Given the description of an element on the screen output the (x, y) to click on. 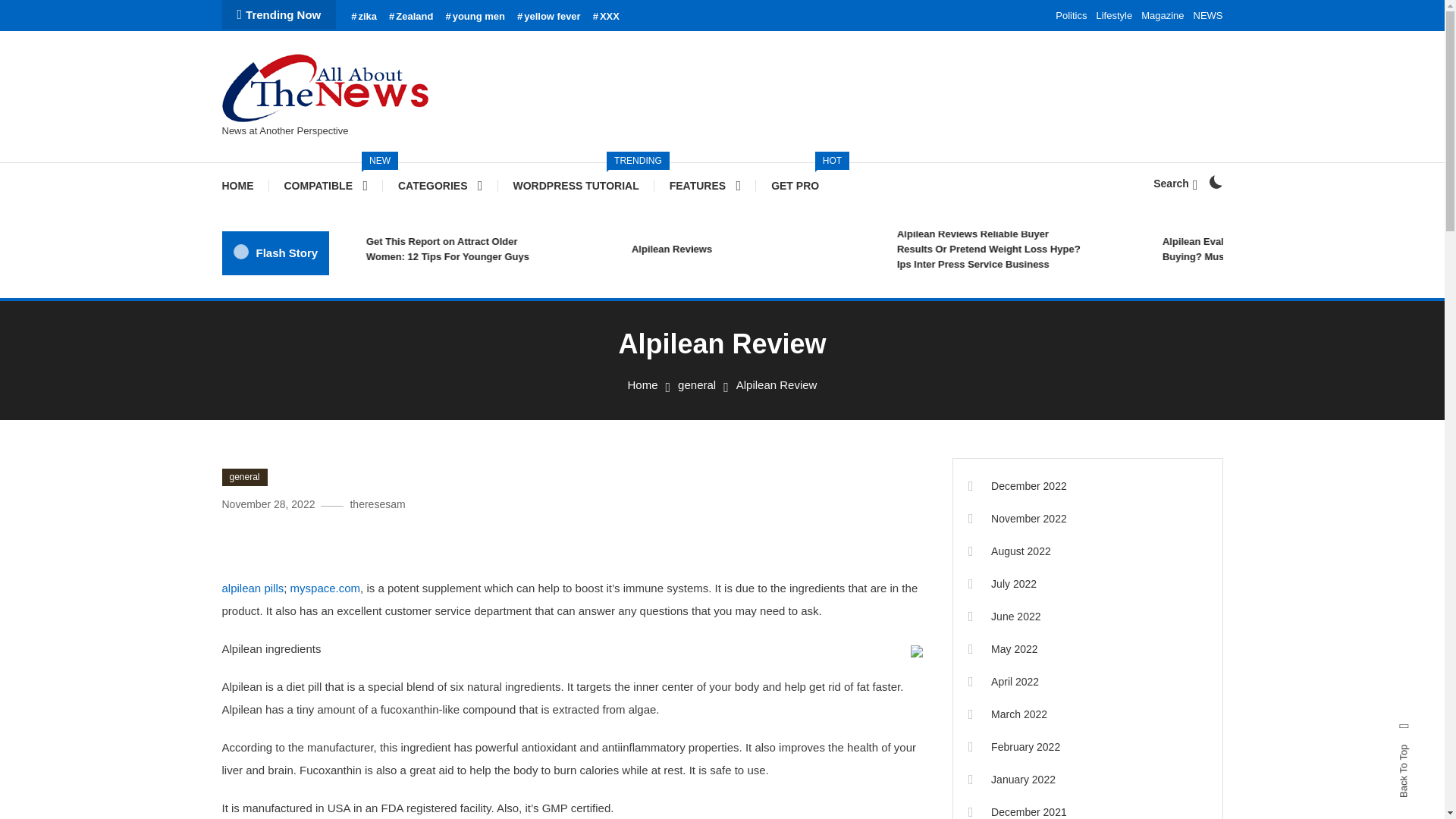
Search (768, 434)
on (1215, 182)
CATEGORIES (439, 185)
HOME (244, 185)
FEATURES (704, 185)
Lifestyle (575, 185)
Politics (1114, 15)
Alpilean Reviews (1070, 15)
XXX (753, 249)
Search (606, 16)
zika (1174, 183)
young men (794, 185)
